Given the description of an element on the screen output the (x, y) to click on. 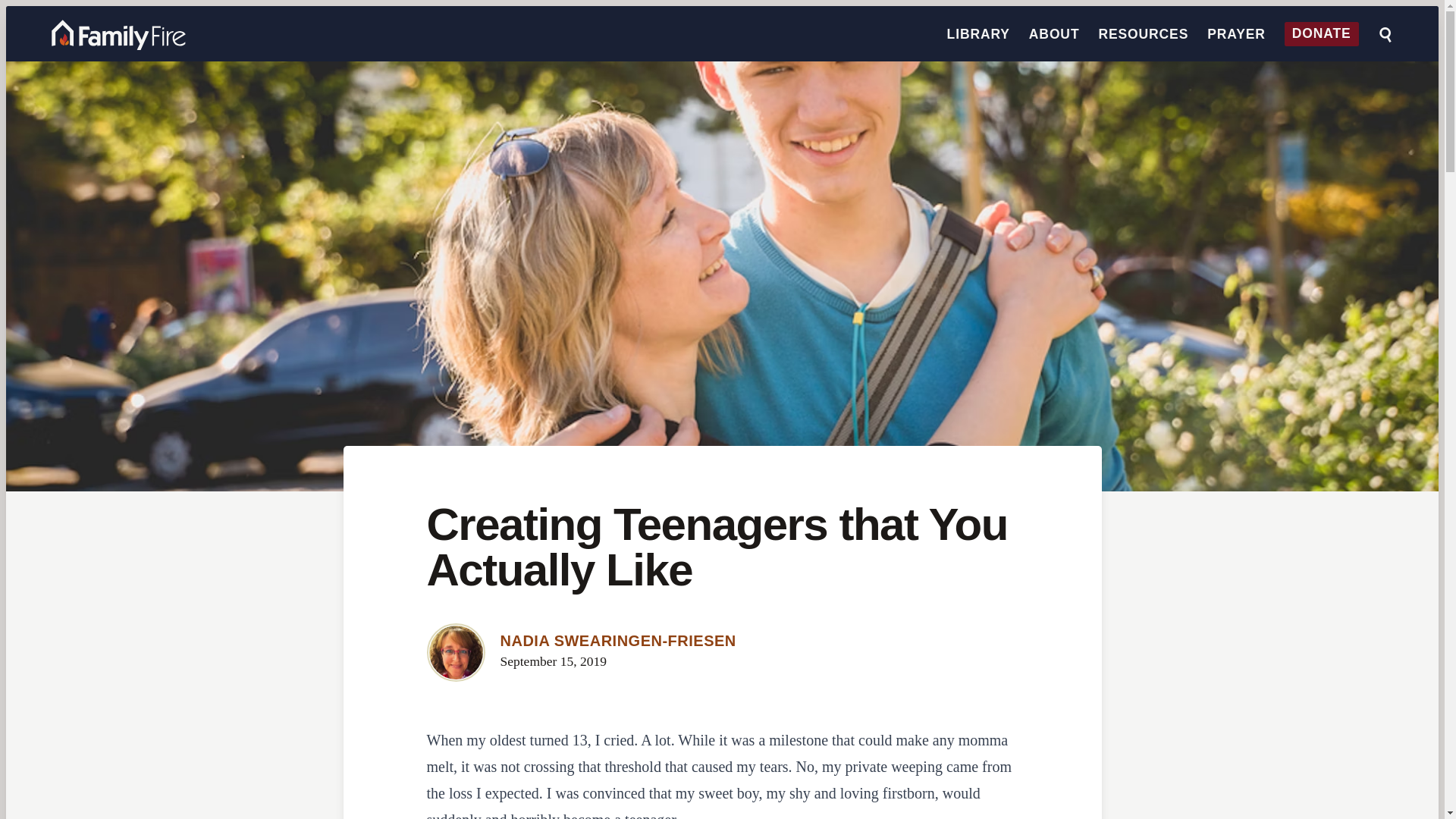
DONATE (1321, 34)
PRAYER (1236, 33)
ABOUT (1054, 33)
LIBRARY (978, 33)
NADIA SWEARINGEN-FRIESEN (618, 640)
Search (1385, 34)
RESOURCES (1142, 33)
